Given the description of an element on the screen output the (x, y) to click on. 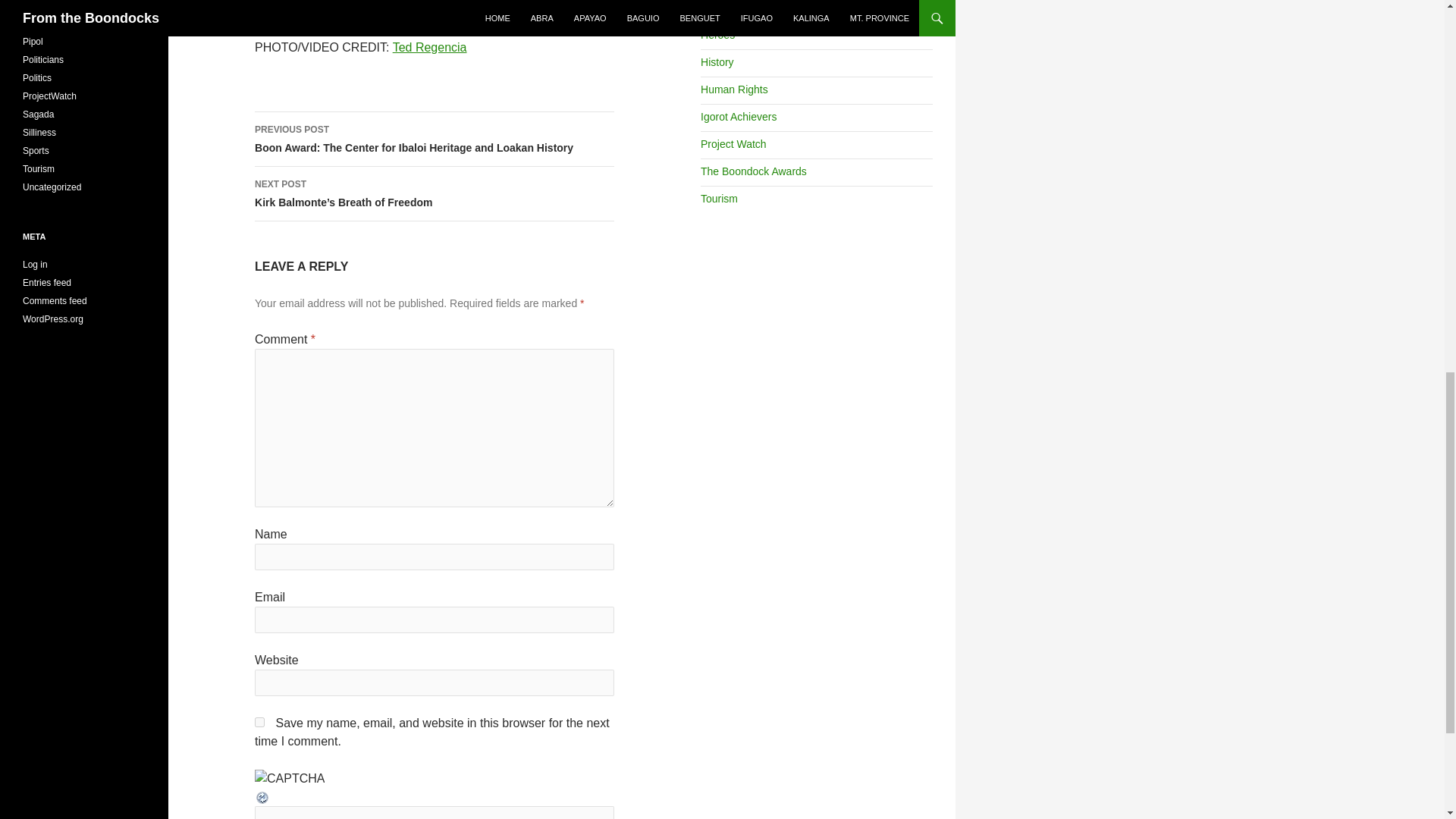
Ted Regencia (430, 47)
CAPTCHA (289, 778)
Refresh (262, 796)
yes (259, 722)
Igorotlandia, Meet Diamond Gut-oman Baier (421, 10)
